Given the description of an element on the screen output the (x, y) to click on. 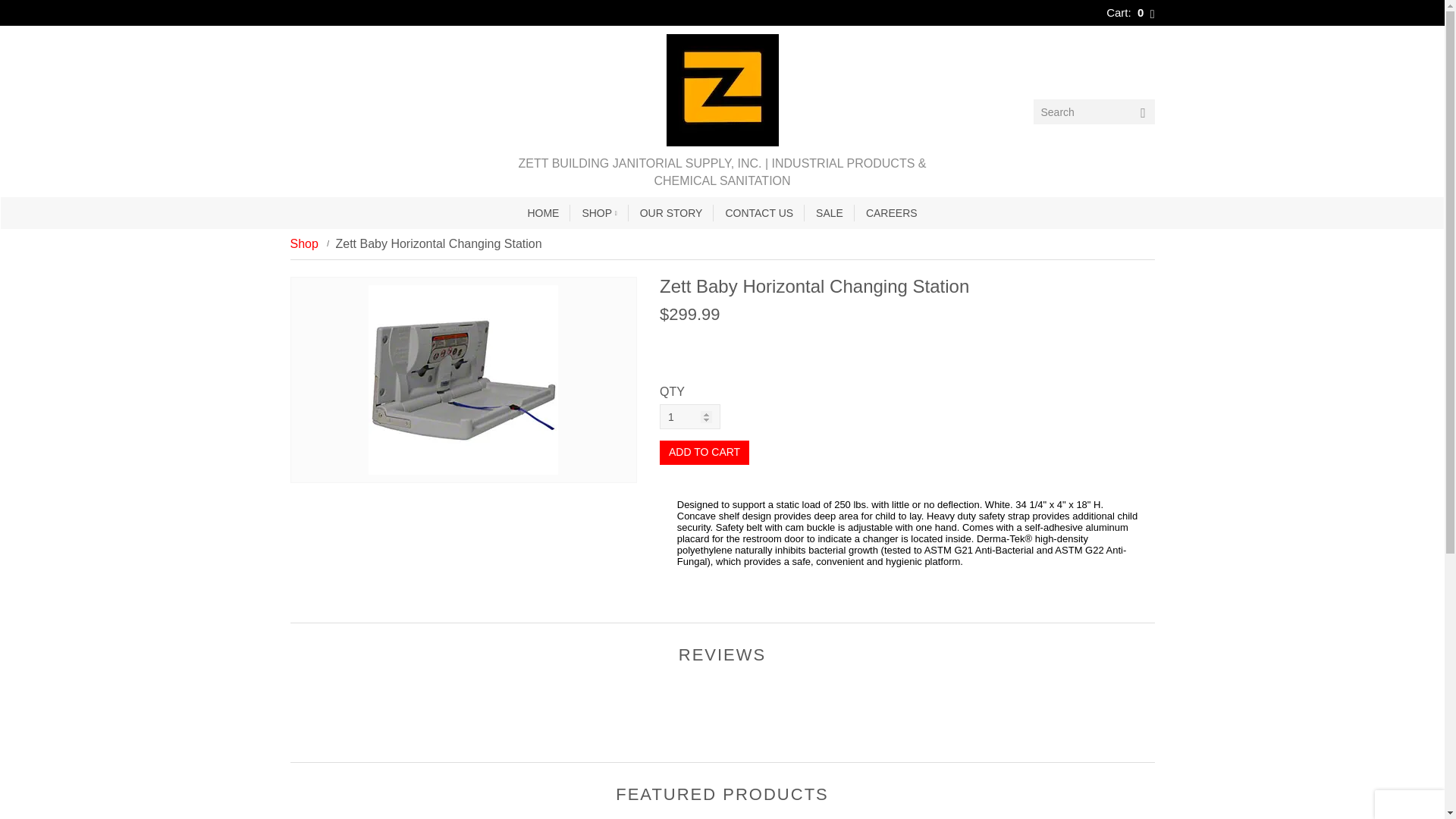
SHOP (598, 213)
1 (689, 416)
Cart:  0   (1130, 11)
HOME (542, 213)
Add to Cart (704, 452)
